Given the description of an element on the screen output the (x, y) to click on. 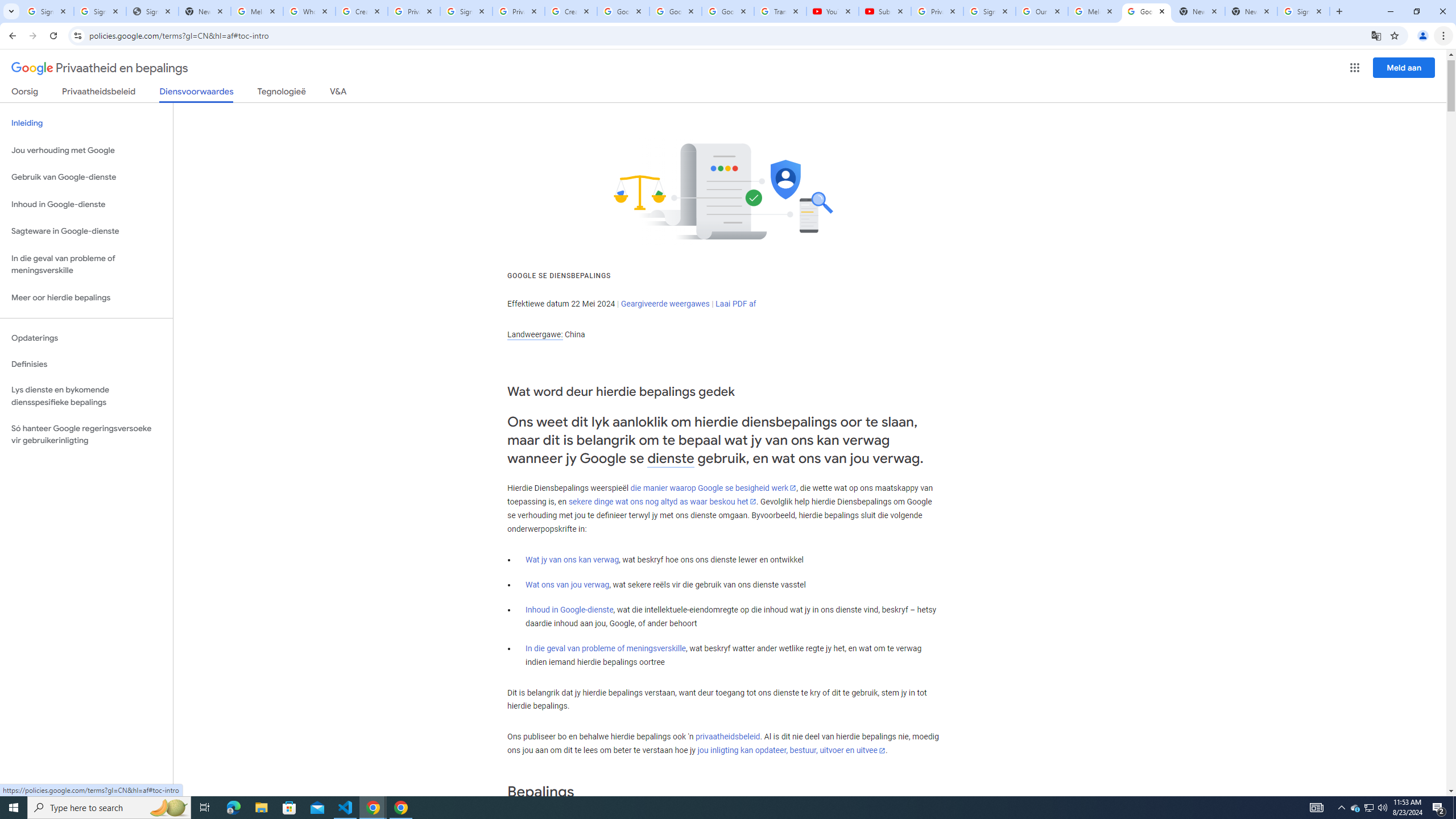
Sign in - Google Accounts (1303, 11)
jou inligting kan opdateer, bestuur, uitvoer en uitvee (791, 750)
Meld aan (1404, 67)
Google-programme (1355, 67)
Geargiveerde weergawes (665, 303)
